Given the description of an element on the screen output the (x, y) to click on. 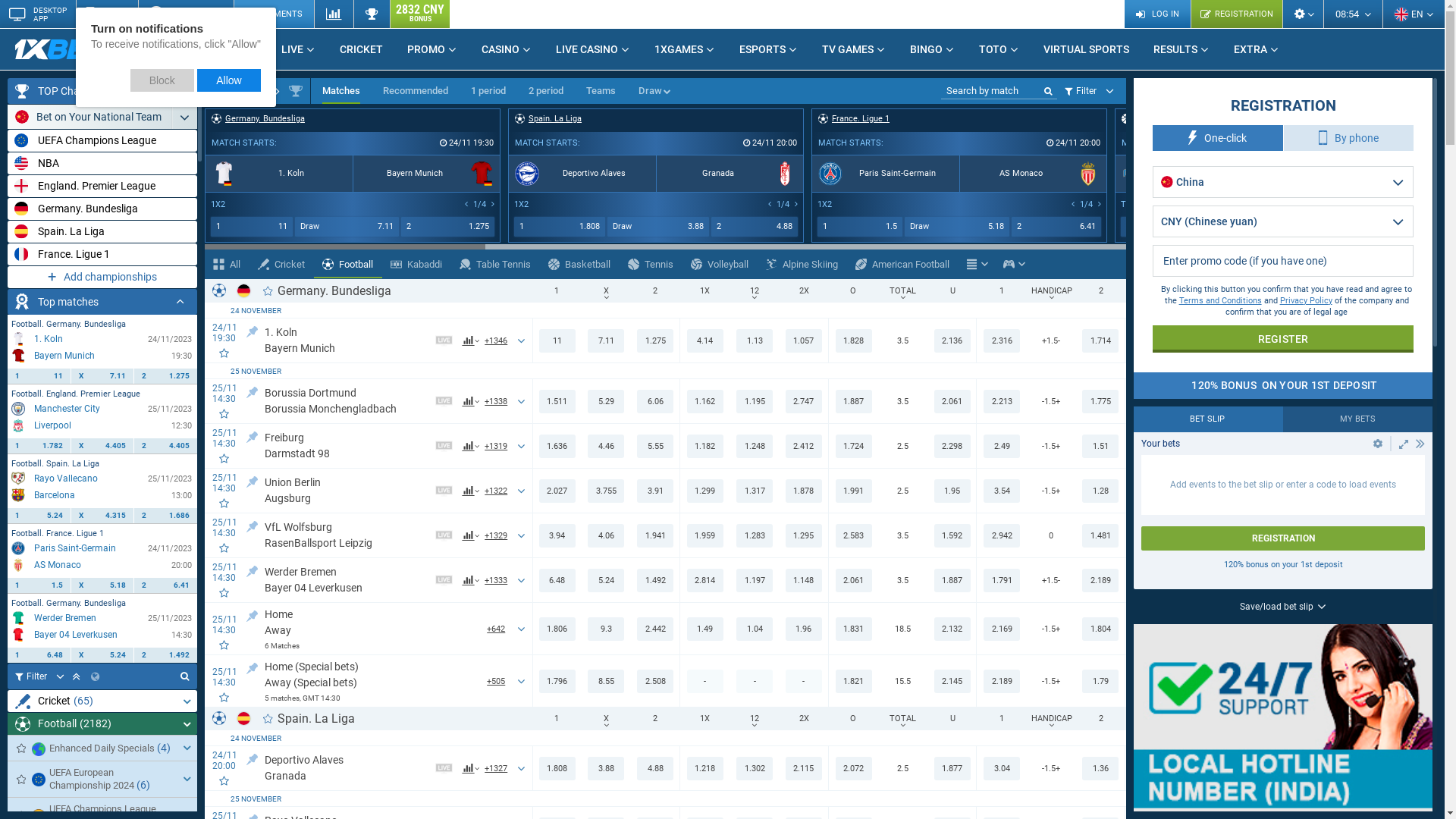
X
4.315 Element type: text (102, 515)
American Football Element type: text (902, 263)
All Element type: text (226, 263)
VfL Wolfsburg
RasenBallsport Leipzig Element type: text (343, 535)
Pin left-hand menu Element type: hover (186, 90)
England. Premier League Element type: text (102, 186)
TV GAMES Element type: text (853, 48)
EXTRA Element type: text (1256, 48)
PAYMENTS Element type: text (273, 14)
Union Berlin
Augsburg Element type: text (343, 490)
Save/load bet slip Element type: text (1282, 606)
X
7.11 Element type: text (102, 375)
1
1.782 Element type: text (38, 445)
ESPORTS Element type: text (768, 48)
X
5.24 Element type: text (102, 654)
Alpine Skiing Element type: text (802, 263)
Freiburg
Darmstadt 98 Element type: text (343, 445)
NHL Element type: text (1446, 120)
Terms and Conditions Element type: text (1220, 300)
1. Koln
Bayern Munich Element type: text (343, 340)
LIVE CASINO Element type: text (592, 48)
Liverpool. Liverpool Element type: hover (18, 425)
+1333 Element type: text (496, 579)
Bayer 04 Leverkusen. Leverkusen Element type: hover (18, 634)
2
1.686 Element type: text (165, 515)
Open Element type: hover (1377, 443)
Germany. Bundesliga Element type: text (334, 290)
Block Element type: text (162, 80)
+1327 Element type: text (496, 767)
Enhanced Daily Specials (4) Element type: text (102, 747)
Spain. La Liga Element type: text (315, 718)
120% BONUS ON YOUR 1ST DEPOSIT Element type: text (1282, 385)
Results Element type: hover (371, 14)
1XGAMES Element type: text (684, 48)
+642 Element type: text (496, 628)
Favorites Element type: hover (21, 778)
REGISTRATION Element type: text (1236, 14)
Football
(2182) Element type: text (102, 723)
Group events by country Element type: hover (94, 676)
Manchester City. Manchester Element type: hover (18, 408)
Sports (7522) Element type: hover (234, 90)
Deportivo Alaves
Granada Element type: text (343, 768)
+1346 Element type: text (496, 340)
Rayo Vallecano. Madrid Element type: hover (18, 478)
Football Element type: text (347, 263)
Collapse selected Element type: hover (75, 676)
Cricket
(65) Element type: text (102, 701)
Privacy Policy Element type: text (1306, 300)
1
11 Element type: text (38, 375)
Germany Element type: hover (243, 290)
Tennis Element type: text (650, 263)
2
4.405 Element type: text (165, 445)
Sports menu Element type: hover (976, 263)
Germany. Bundesliga Element type: text (264, 120)
RESULTS Element type: text (1181, 48)
Basketball Element type: text (579, 263)
+505 Element type: text (496, 680)
Home (Special bets)
Away (Special bets)
5 matches, GMT 14:30 Element type: text (363, 680)
Spain. La Liga Element type: text (554, 120)
2
1.492 Element type: text (165, 654)
Bayern Munich. Munich Element type: hover (18, 355)
Football Element type: hover (270, 90)
BETS
VIA TELEGRAM Element type: text (185, 14)
1. Koln. Cologne Element type: hover (18, 338)
Cricket Element type: text (281, 263)
+1338 Element type: text (496, 400)
LIVE Element type: text (298, 48)
Volleyball Element type: text (719, 263)
Collapse/Expand all Element type: hover (168, 90)
Werder Bremen. Bremen Element type: hover (18, 617)
Collapse block/Expand block Element type: hover (1419, 443)
TOTO Element type: text (998, 48)
Allow Element type: text (228, 80)
UEFA Champions League Element type: text (102, 140)
AS Monaco.  Element type: hover (18, 564)
Home
Away
6 Matches Element type: text (363, 628)
+1322 Element type: text (496, 490)
Statistics Element type: hover (333, 14)
One-click Element type: text (1217, 137)
Menu Element type: hover (971, 263)
NEW Element type: text (124, 42)
1
5.24 Element type: text (38, 515)
DESKTOP
APP Element type: text (37, 14)
REGISTRATION Element type: text (1282, 538)
BINGO Element type: text (931, 48)
Settings Element type: hover (1302, 14)
VIRTUAL SPORTS Element type: text (1086, 48)
Search Element type: hover (184, 676)
Germany. Bundesliga Element type: text (102, 208)
Kabaddi Element type: text (416, 263)
2
6.41 Element type: text (165, 585)
2
1.275 Element type: text (165, 375)
By phone Element type: text (1348, 137)
X
4.405 Element type: text (102, 445)
NBA Element type: text (102, 163)
CRICKET Element type: text (361, 48)
France. Ligue 1 Element type: text (102, 254)
1
6.48 Element type: text (38, 654)
Paris Saint-Germain. Paris Element type: hover (18, 548)
1
1.5 Element type: text (38, 585)
+1329 Element type: text (496, 535)
NBA Element type: text (1143, 120)
PROMO Element type: text (432, 48)
Werder Bremen
Bayer 04 Leverkusen Element type: text (343, 580)
Add championships Element type: text (102, 277)
Favorites Element type: hover (21, 747)
+1319 Element type: text (496, 445)
Spain. La Liga Element type: text (102, 231)
UEFA European Championship 2024 (6) Element type: text (102, 778)
120% bonus on your 1st deposit Element type: text (1283, 564)
Promo code Element type: hover (1282, 260)
Borussia Dortmund
Borussia Monchengladbach Element type: text (343, 401)
Barcelona. Barcelona Element type: hover (18, 495)
Esports Element type: hover (1008, 263)
BET SLIP Element type: text (1208, 419)
X
5.18 Element type: text (102, 585)
MOBILE
APP Element type: text (106, 14)
Collapse/Expand Element type: hover (1403, 443)
Collapse/Expand all Element type: hover (179, 301)
CASINO Element type: text (506, 48)
France. Ligue 1 Element type: text (860, 120)
Spain Element type: hover (243, 718)
Esports menu Element type: hover (1013, 263)
SPORTS Element type: text (231, 48)
MY BETS Element type: text (1357, 419)
2832 CNY
BONUS Element type: text (419, 14)
Table Tennis Element type: text (495, 263)
